Given the description of an element on the screen output the (x, y) to click on. 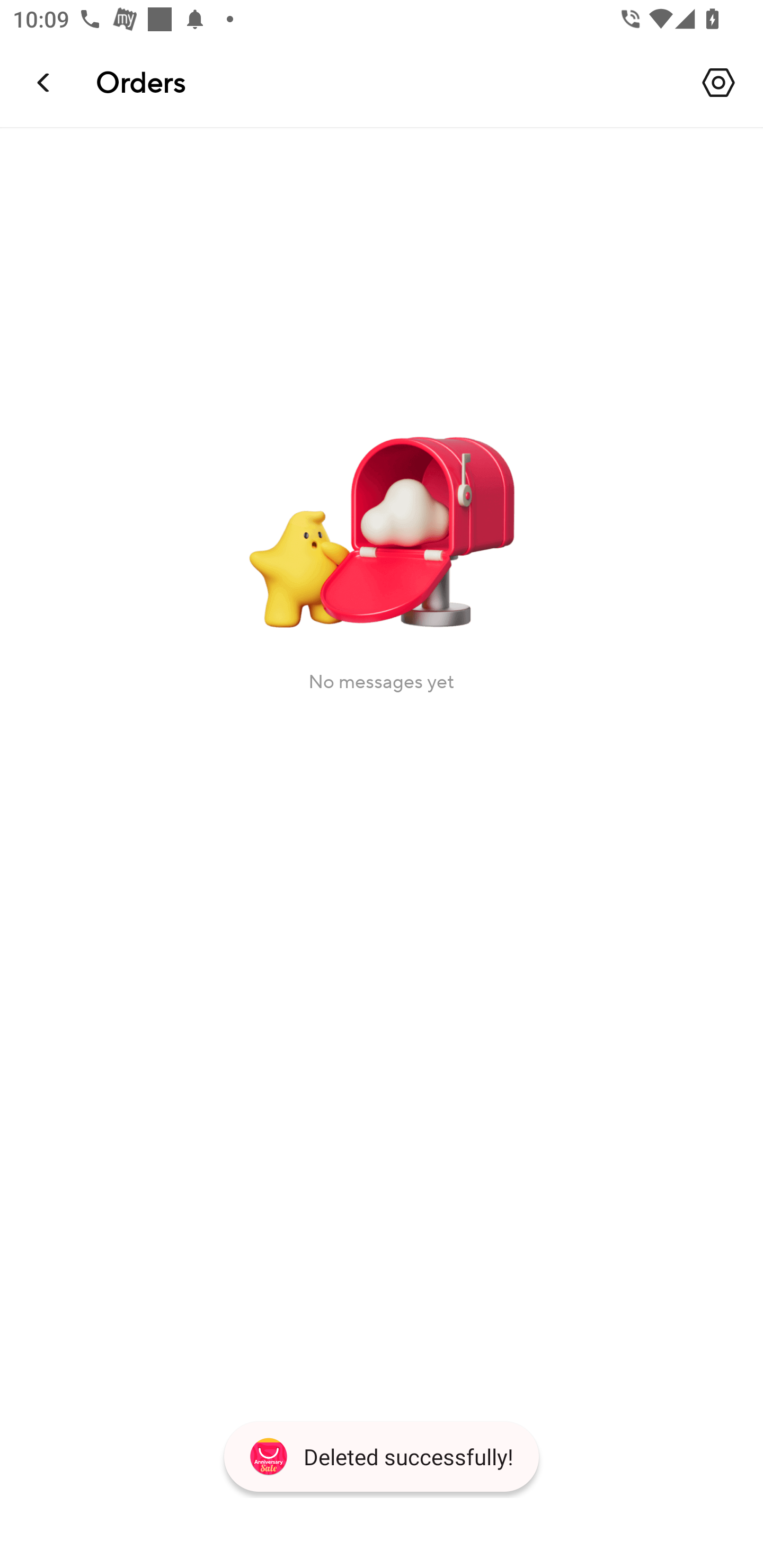
Navigate up (44, 82)
